Given the description of an element on the screen output the (x, y) to click on. 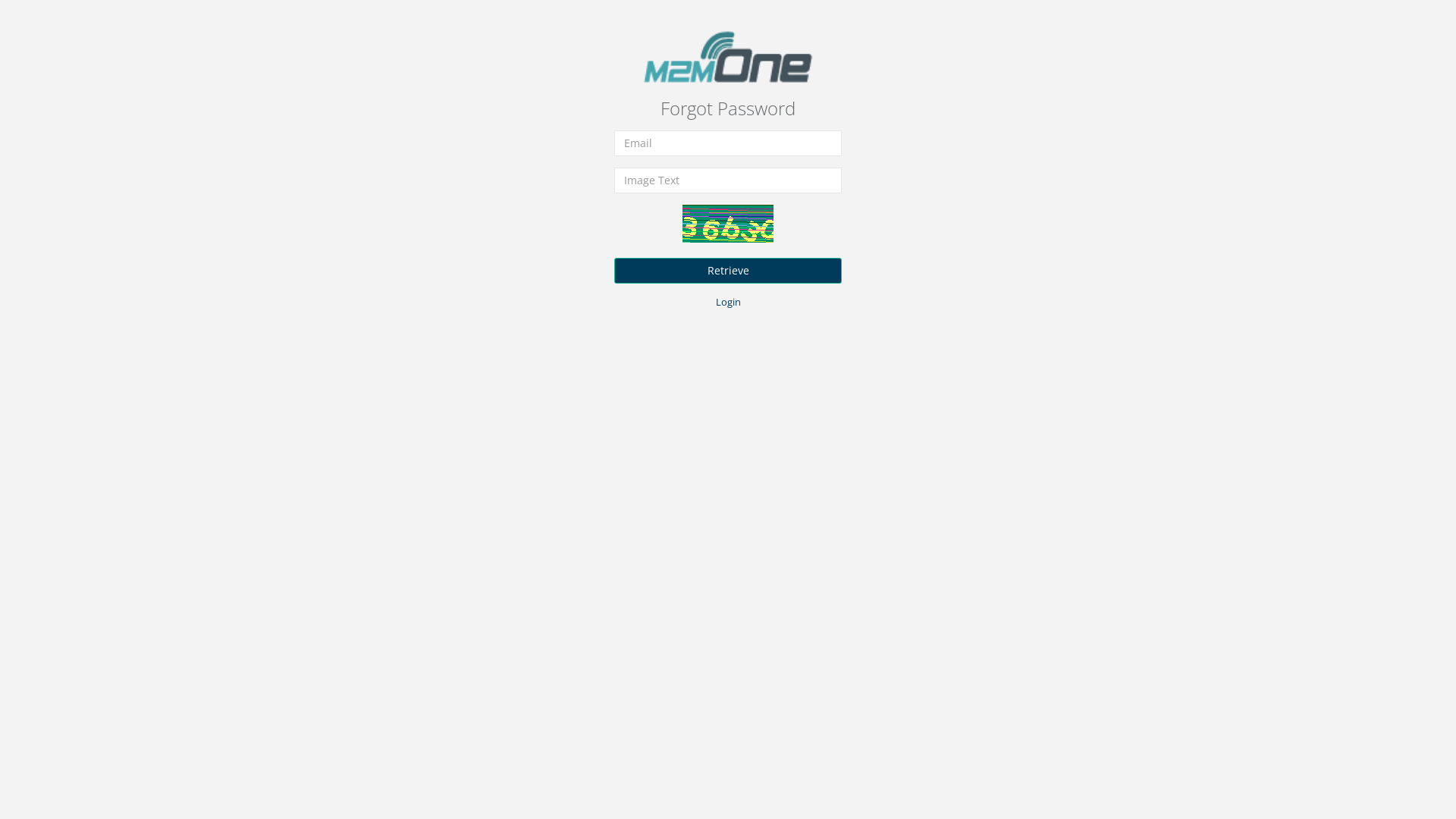
Retrieve Element type: text (727, 270)
Login Element type: text (727, 301)
